Given the description of an element on the screen output the (x, y) to click on. 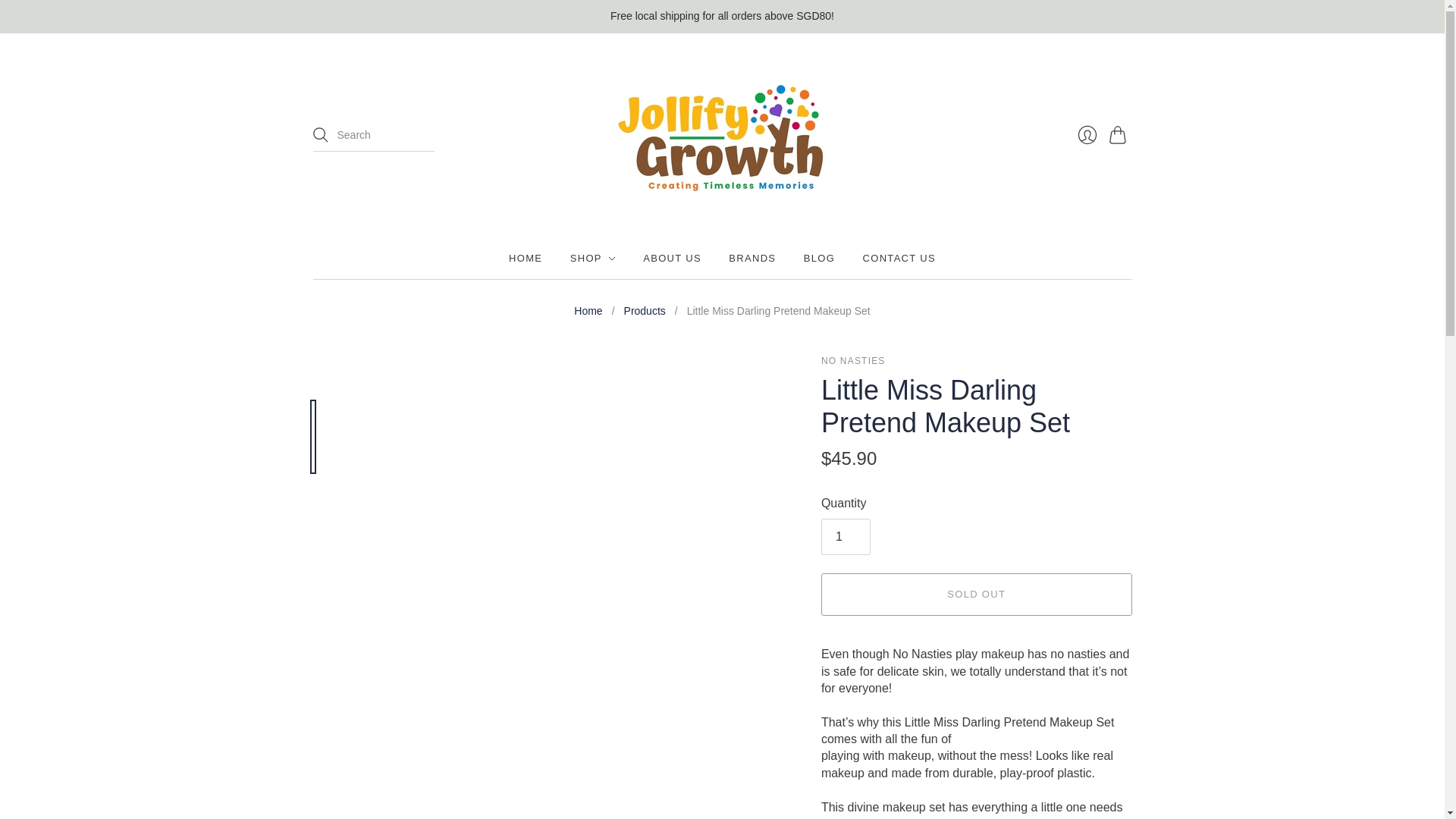
SHOP (592, 257)
BLOG (818, 257)
No Nasties (853, 360)
HOME (524, 257)
CONTACT US (899, 257)
ABOUT US (672, 257)
Cart (1119, 134)
BRANDS (752, 257)
1 (845, 536)
Login (1086, 134)
